Given the description of an element on the screen output the (x, y) to click on. 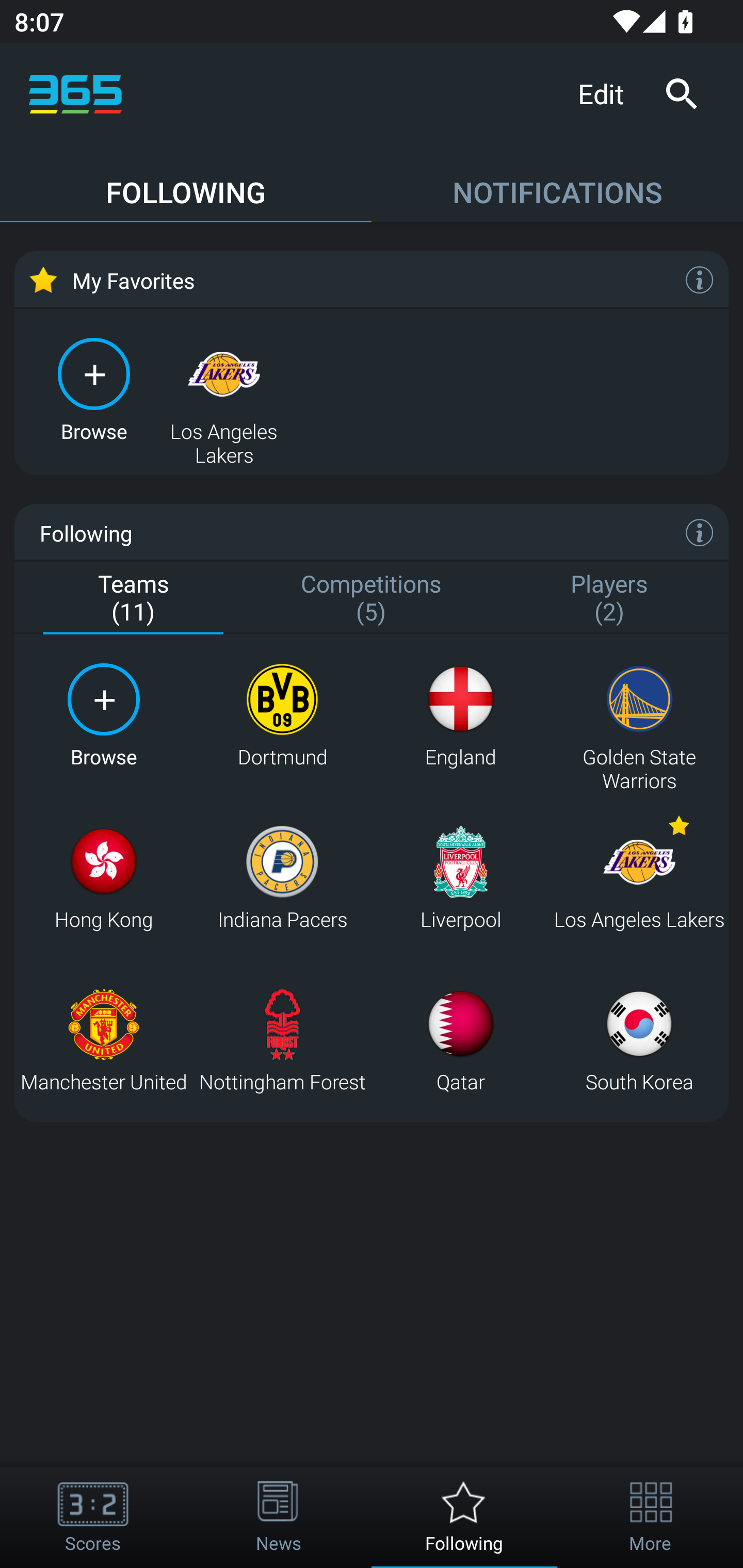
Search (681, 93)
Edit (608, 93)
FOLLOWING (185, 183)
NOTIFICATIONS (557, 183)
Browse (93, 387)
Los Angeles Lakers (224, 387)
Competitions
(5) (371, 598)
Players
(2) (609, 598)
Browse (103, 715)
Dortmund (282, 715)
England (460, 715)
Golden State Warriors (638, 715)
Hong Kong (103, 877)
Indiana Pacers (282, 877)
Liverpool (460, 877)
Los Angeles Lakers (638, 877)
Manchester United (103, 1040)
Nottingham Forest (282, 1040)
Qatar (460, 1040)
South Korea (638, 1040)
Scores (92, 1517)
News (278, 1517)
More (650, 1517)
